Given the description of an element on the screen output the (x, y) to click on. 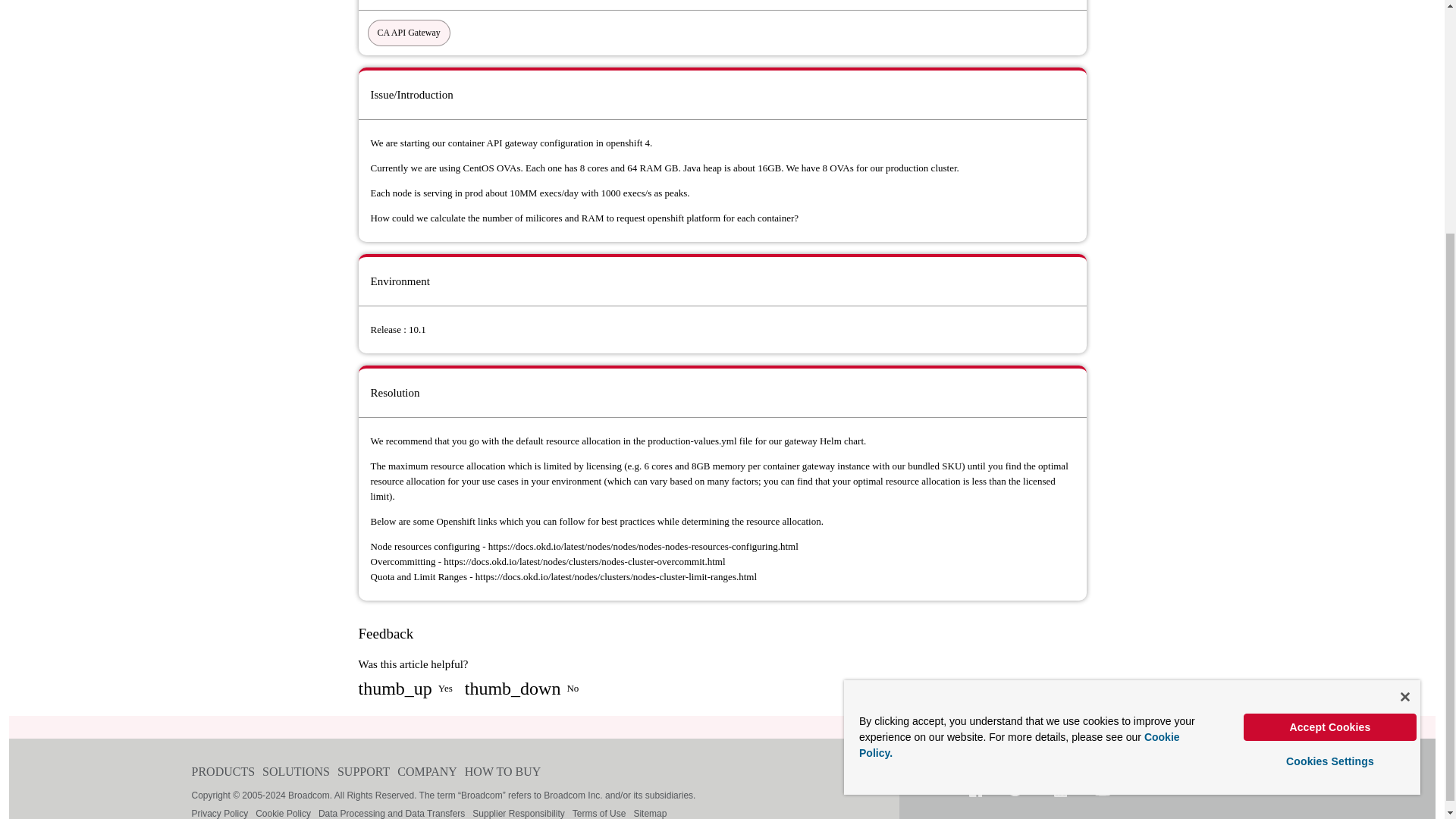
Accept Cookies (1329, 405)
Cookie Policy. (1019, 423)
Cookies Settings (1329, 439)
